Given the description of an element on the screen output the (x, y) to click on. 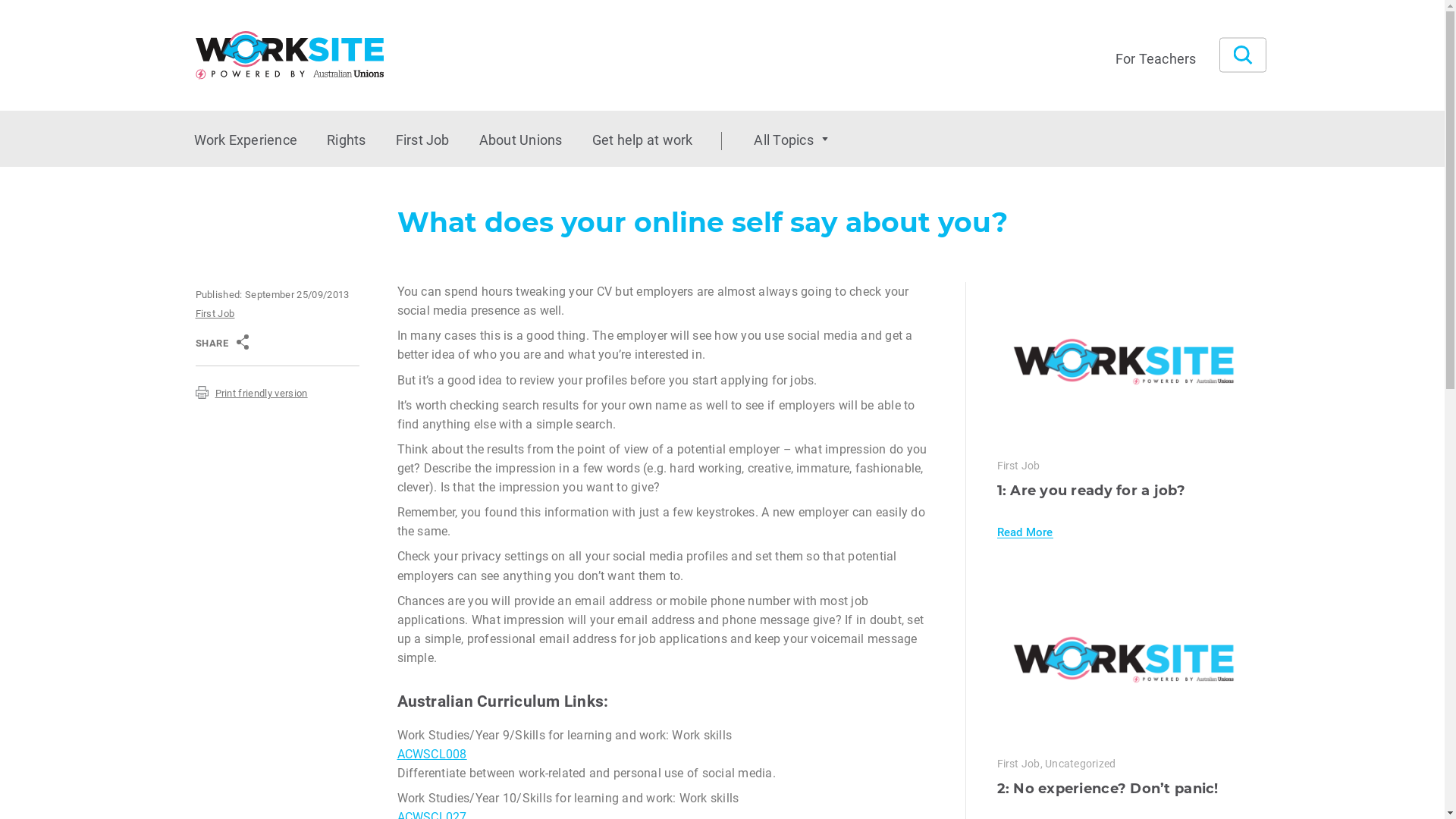
Rights Element type: text (345, 139)
For Teachers Element type: text (1155, 58)
About Unions Element type: text (520, 139)
Read More Element type: text (1024, 532)
Skip to content Element type: text (0, 166)
First Job Element type: text (422, 139)
Get help at work Element type: text (642, 139)
Print friendly version Element type: text (251, 393)
Work Experience Element type: text (246, 139)
All Topics Element type: text (790, 139)
ACWSCL008 Element type: text (432, 753)
